Given the description of an element on the screen output the (x, y) to click on. 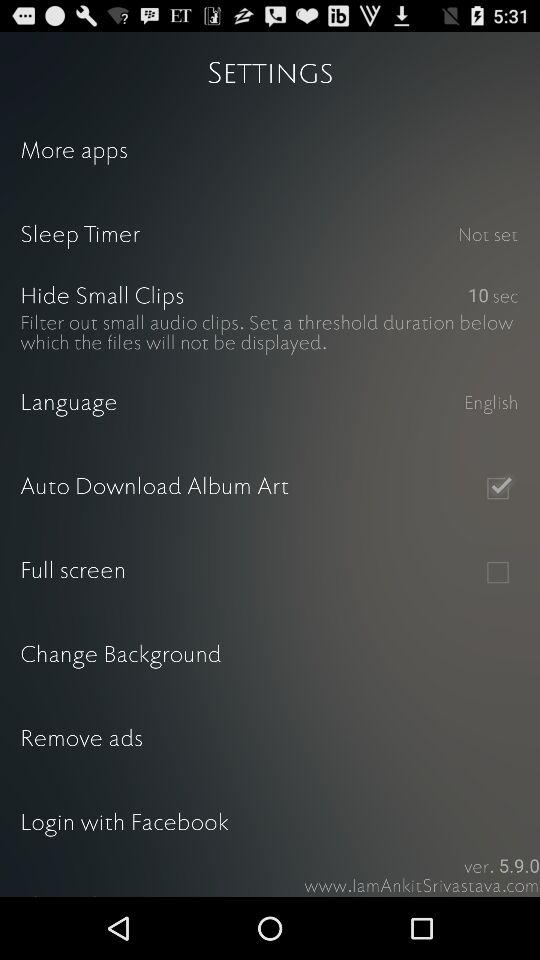
tap the login with facebook item (270, 824)
